Given the description of an element on the screen output the (x, y) to click on. 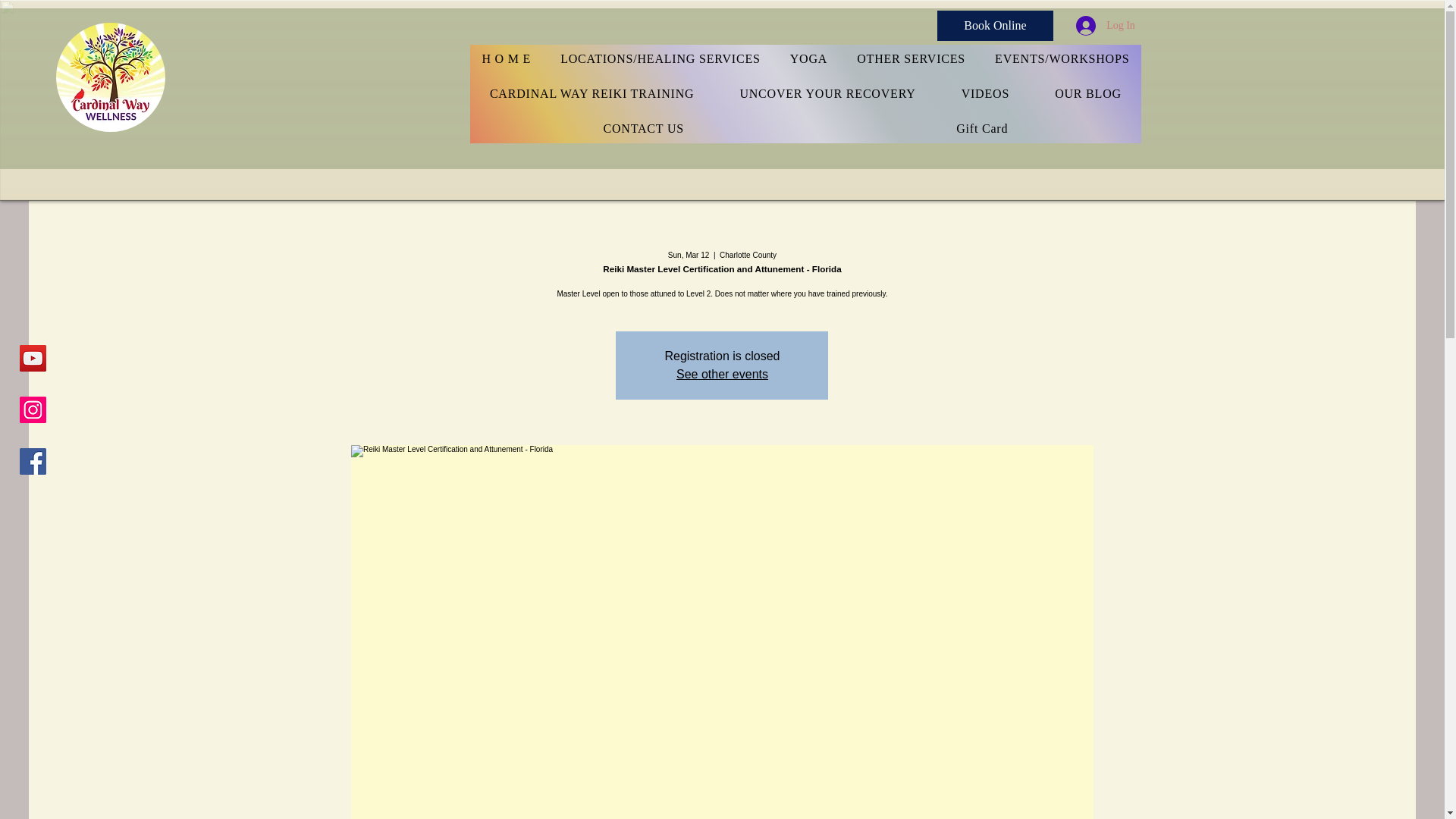
VIDEOS (985, 93)
See other events (722, 373)
UNCOVER YOUR RECOVERY (826, 93)
OTHER SERVICES (910, 59)
H O M E (506, 59)
Book Online (994, 25)
CONTACT US (643, 128)
CARDINAL WAY REIKI TRAINING (591, 93)
YOGA (807, 59)
Log In (1105, 24)
